Given the description of an element on the screen output the (x, y) to click on. 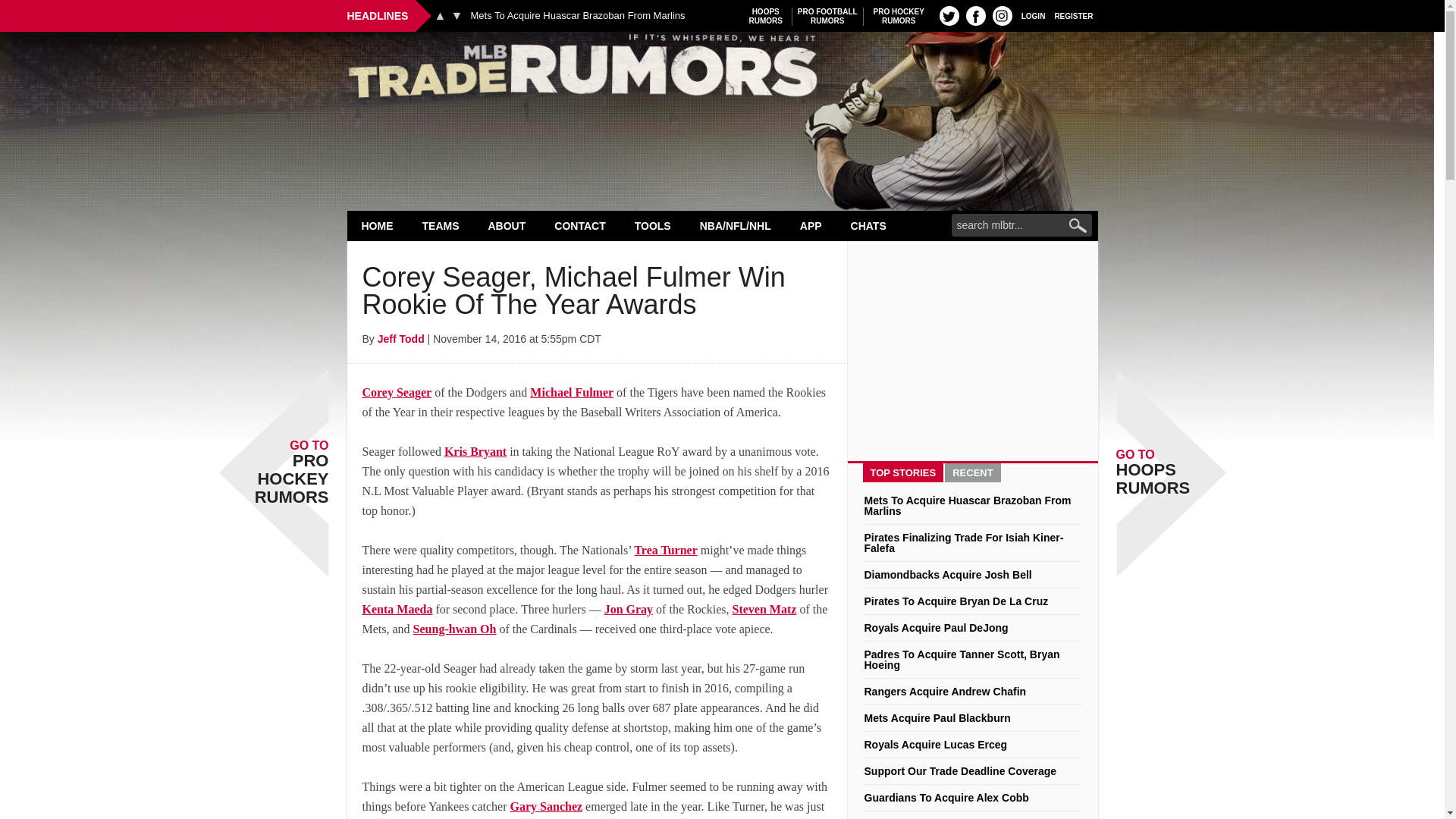
HOME (377, 225)
REGISTER (1073, 15)
Mets To Acquire Huascar Brazoban From Marlins (577, 15)
Next (456, 15)
Previous (765, 16)
LOGIN (898, 16)
TEAMS (439, 15)
FB profile (1032, 15)
MLB Trade Rumors (440, 225)
Search (975, 15)
Twitter profile (722, 69)
